Given the description of an element on the screen output the (x, y) to click on. 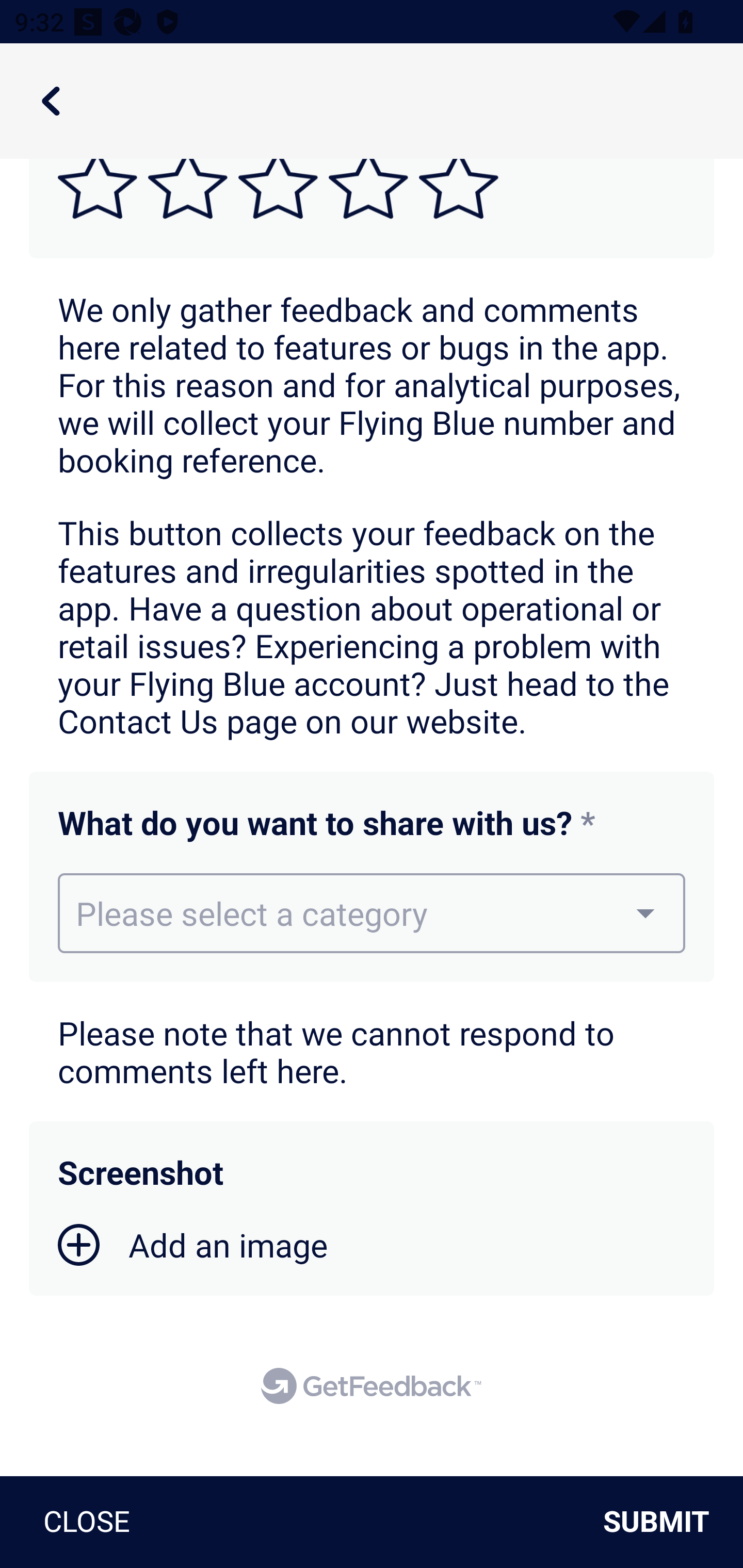
Navigate up (50, 101)
Please select a category (371, 913)
Add an image (192, 1244)
Powered by Usabilla (370, 1385)
CLOSE (79, 1521)
SUBMIT (663, 1521)
